Given the description of an element on the screen output the (x, y) to click on. 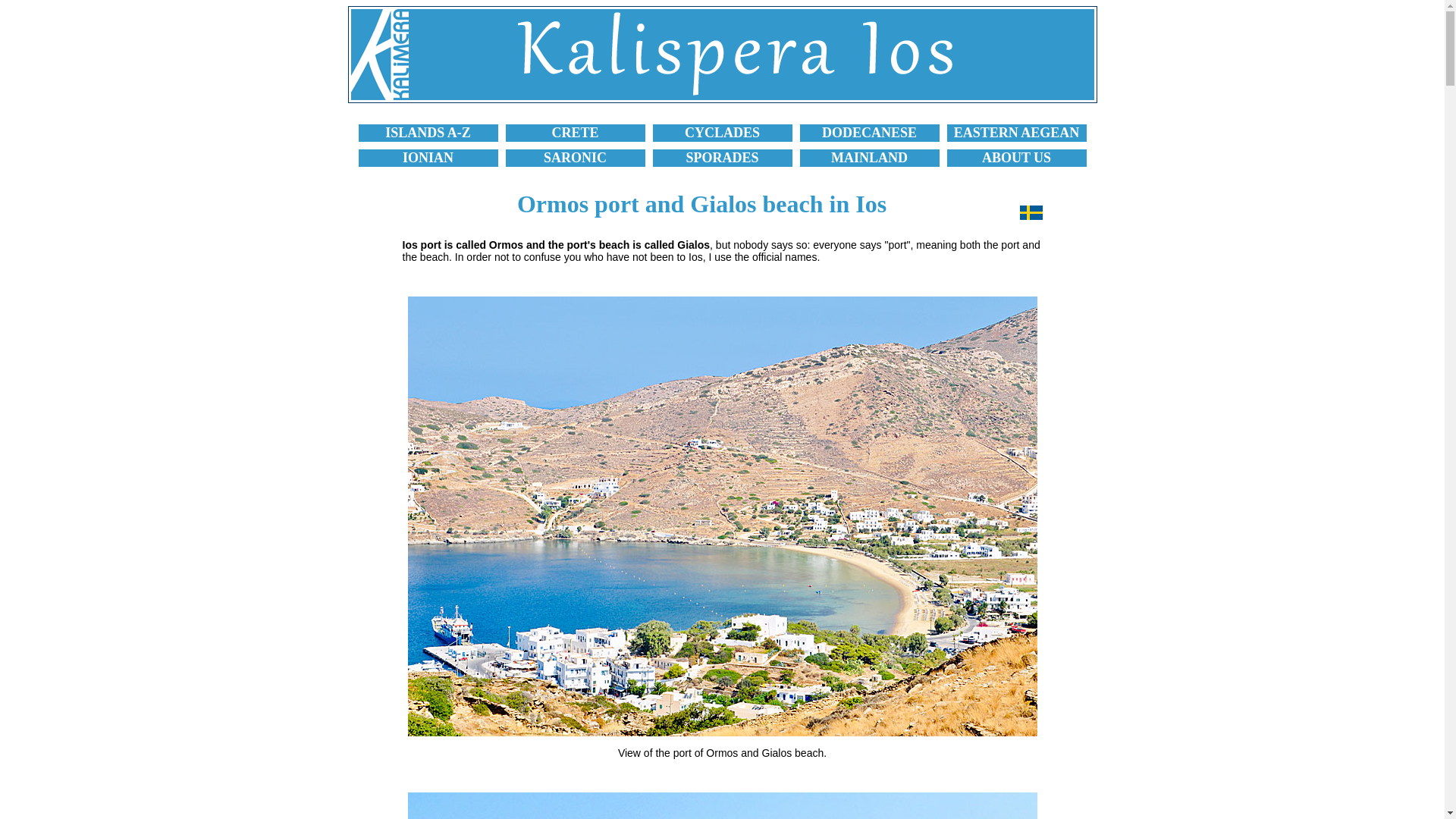
CRETE (574, 132)
SARONIC (575, 157)
MAINLAND (869, 157)
EASTERN AEGEAN (1016, 132)
ABOUT US (1016, 157)
IONIAN (427, 157)
SPORADES (721, 157)
CYCLADES (722, 132)
ISLANDS A-Z (427, 132)
DODECANESE (869, 132)
